Given the description of an element on the screen output the (x, y) to click on. 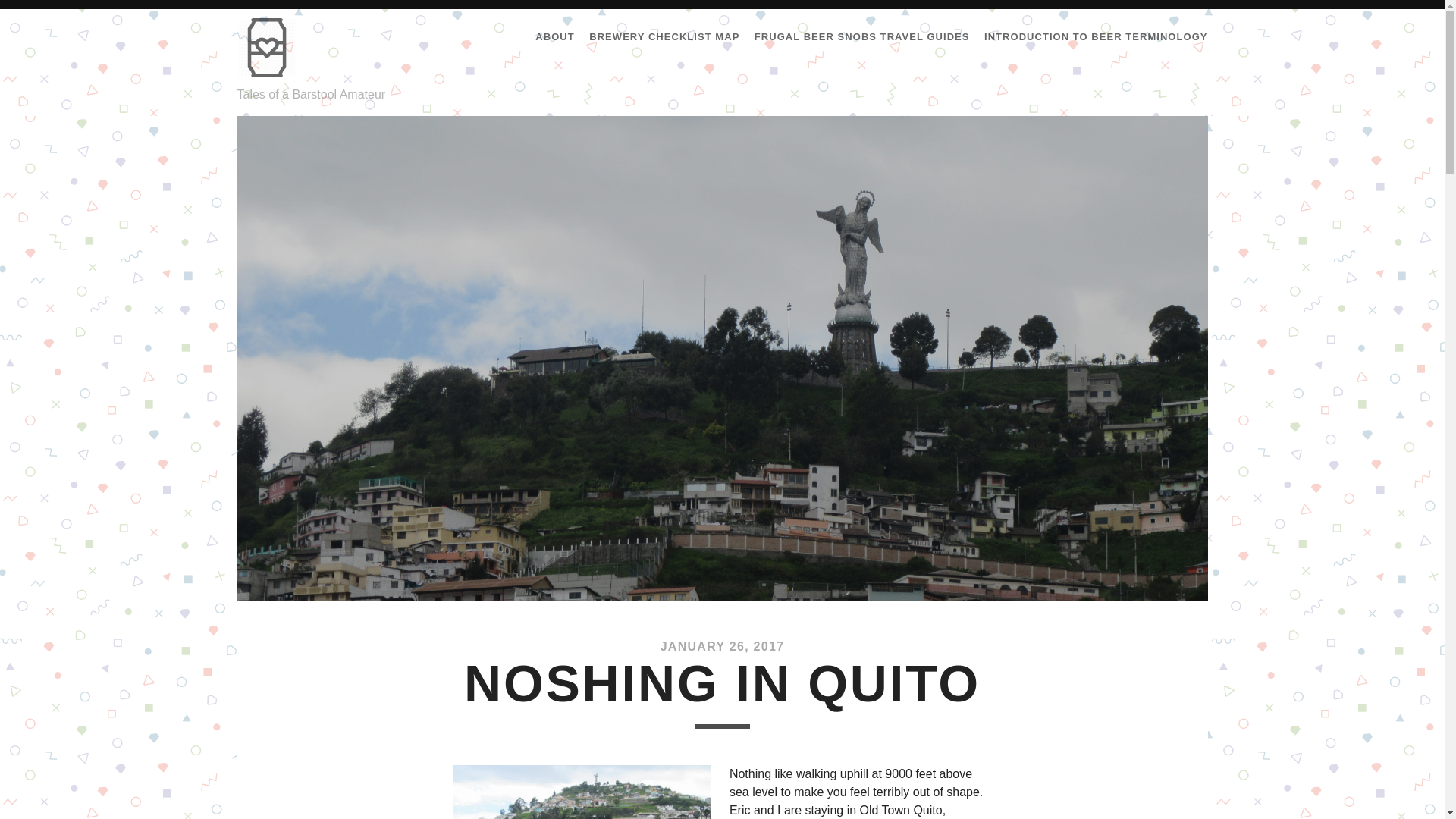
INTRODUCTION TO BEER TERMINOLOGY (1096, 36)
BREWERY CHECKLIST MAP (664, 36)
FRUGAL BEER SNOBS TRAVEL GUIDES (861, 36)
ABOUT (554, 36)
